Given the description of an element on the screen output the (x, y) to click on. 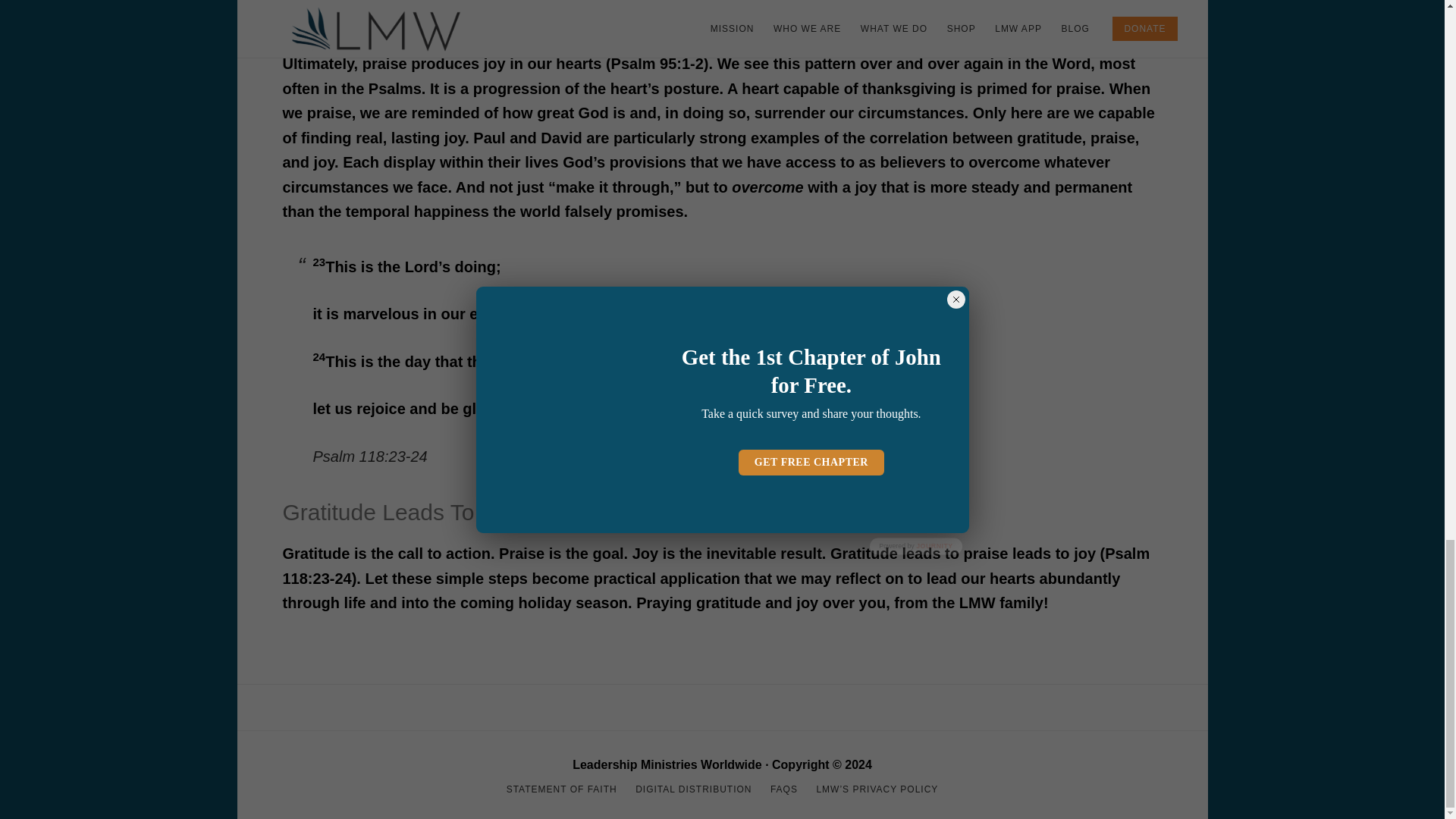
DIGITAL DISTRIBUTION (692, 788)
STATEMENT OF FAITH (561, 788)
FAQS (783, 788)
